Given the description of an element on the screen output the (x, y) to click on. 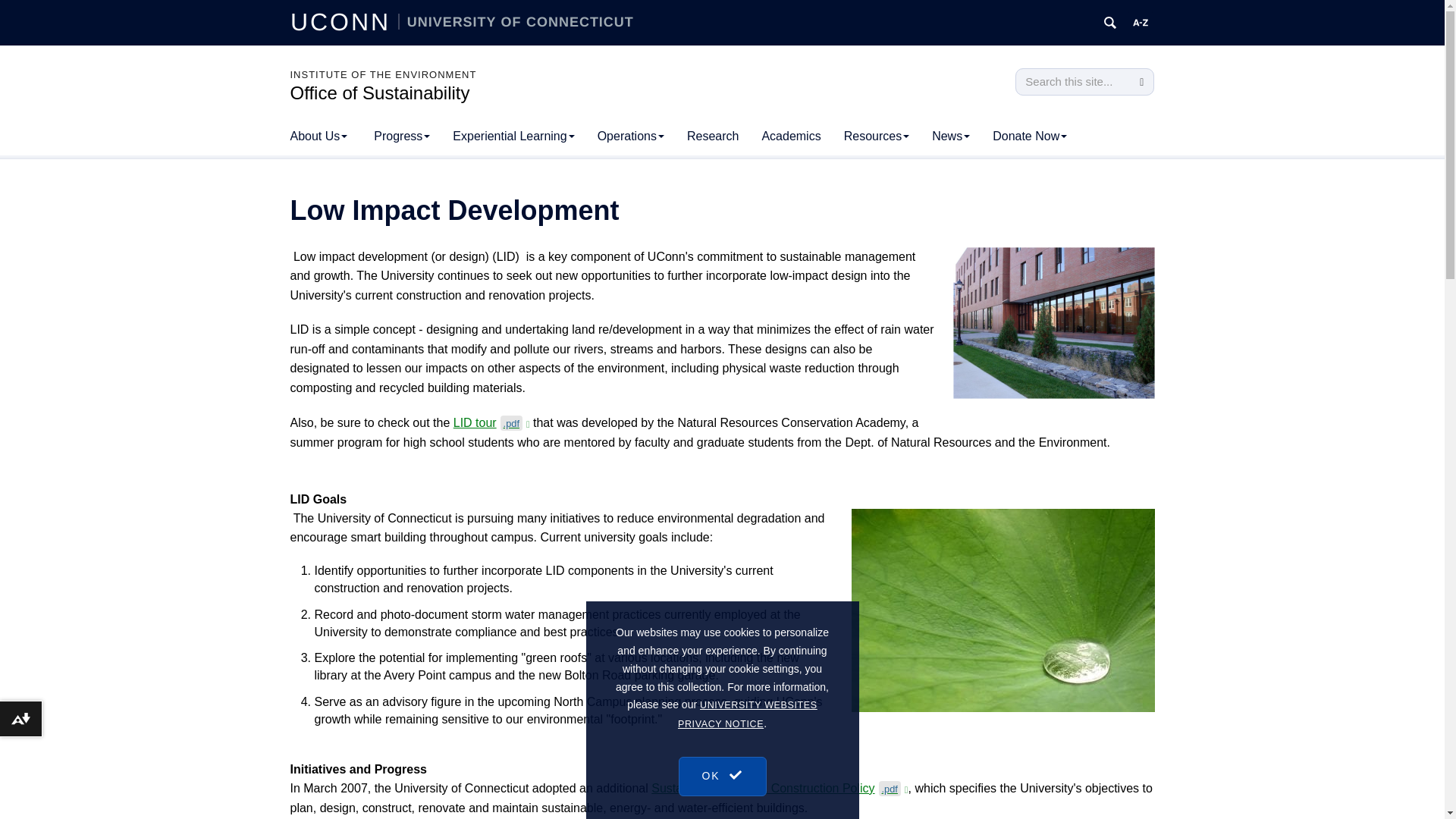
Search UConn (1110, 22)
UConn A to Z Index (1140, 22)
INSTITUTE OF THE ENVIRONMENT (382, 74)
Search this site...  (1072, 81)
Search (1141, 81)
UCONN (343, 21)
About Us (318, 136)
Operations (630, 136)
Experiential Learning (513, 136)
UConn A to Z Index (1140, 22)
Office of Sustainability (378, 92)
UNIVERSITY OF CONNECTICUT (515, 21)
Progress (401, 136)
Search UConn (1109, 22)
Search (1141, 81)
